Given the description of an element on the screen output the (x, y) to click on. 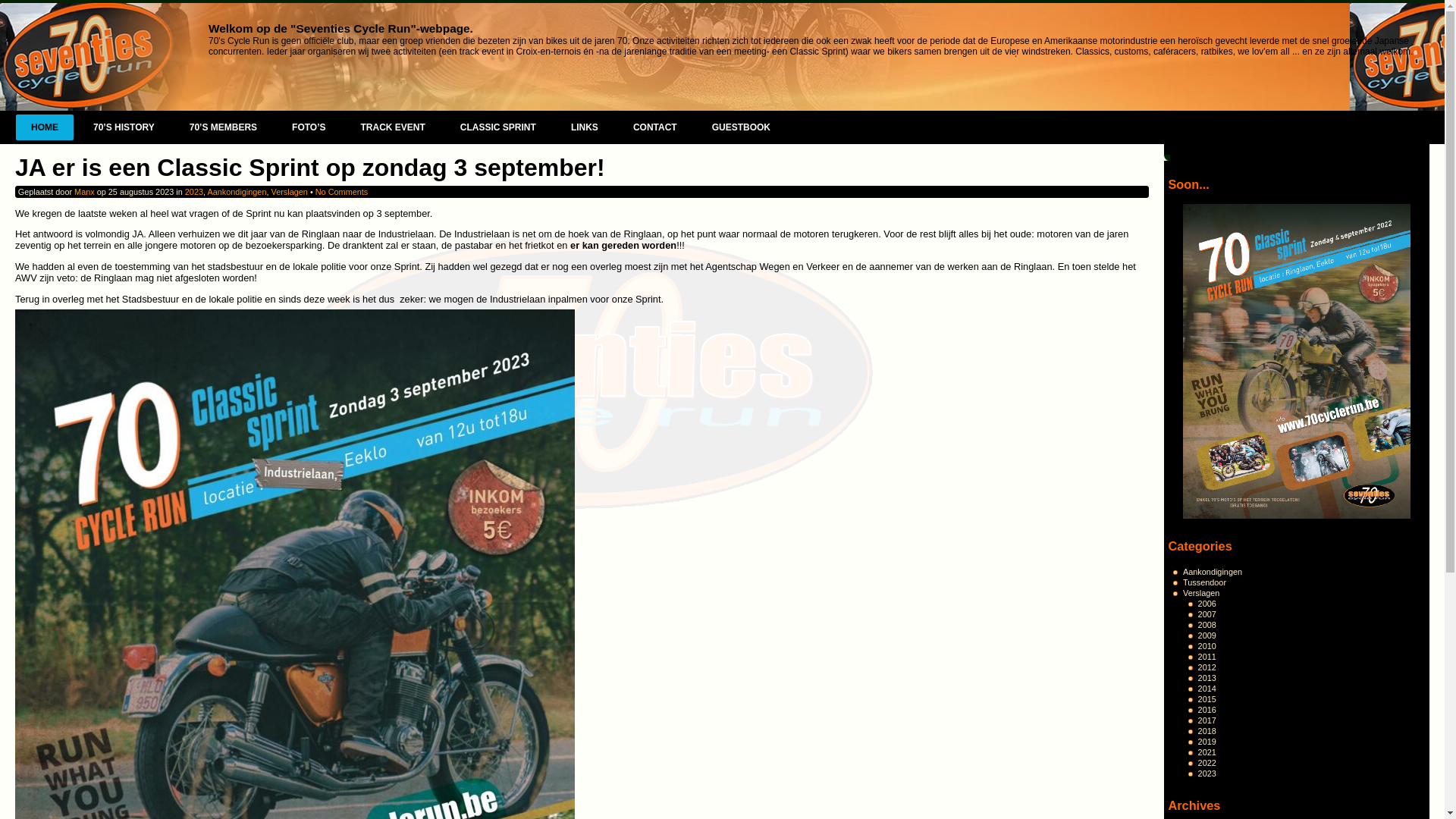
2023 Element type: text (1207, 773)
2021 Element type: text (1207, 751)
No Comments Element type: text (341, 191)
2014 Element type: text (1207, 688)
2022 Element type: text (1207, 762)
2023 Element type: text (194, 191)
CONTACT Element type: text (655, 127)
Verslagen Element type: text (289, 191)
LINKS Element type: text (584, 127)
Manx Element type: text (84, 191)
CLASSIC SPRINT Element type: text (498, 127)
Tussendoor Element type: text (1204, 581)
Aankondigingen Element type: text (236, 191)
Verslagen Element type: text (1201, 592)
2019 Element type: text (1207, 741)
2010 Element type: text (1207, 645)
2006 Element type: text (1207, 603)
2015 Element type: text (1207, 698)
2008 Element type: text (1207, 624)
2018 Element type: text (1207, 730)
TRACK EVENT Element type: text (393, 127)
2017 Element type: text (1207, 719)
2007 Element type: text (1207, 613)
2011 Element type: text (1207, 656)
2013 Element type: text (1207, 677)
GUESTBOOK Element type: text (741, 127)
2012 Element type: text (1207, 666)
HOME Element type: text (44, 127)
JA er is een Classic Sprint op zondag 3 september! Element type: text (310, 167)
2016 Element type: text (1207, 709)
Aankondigingen Element type: text (1212, 571)
2009 Element type: text (1207, 635)
